Given the description of an element on the screen output the (x, y) to click on. 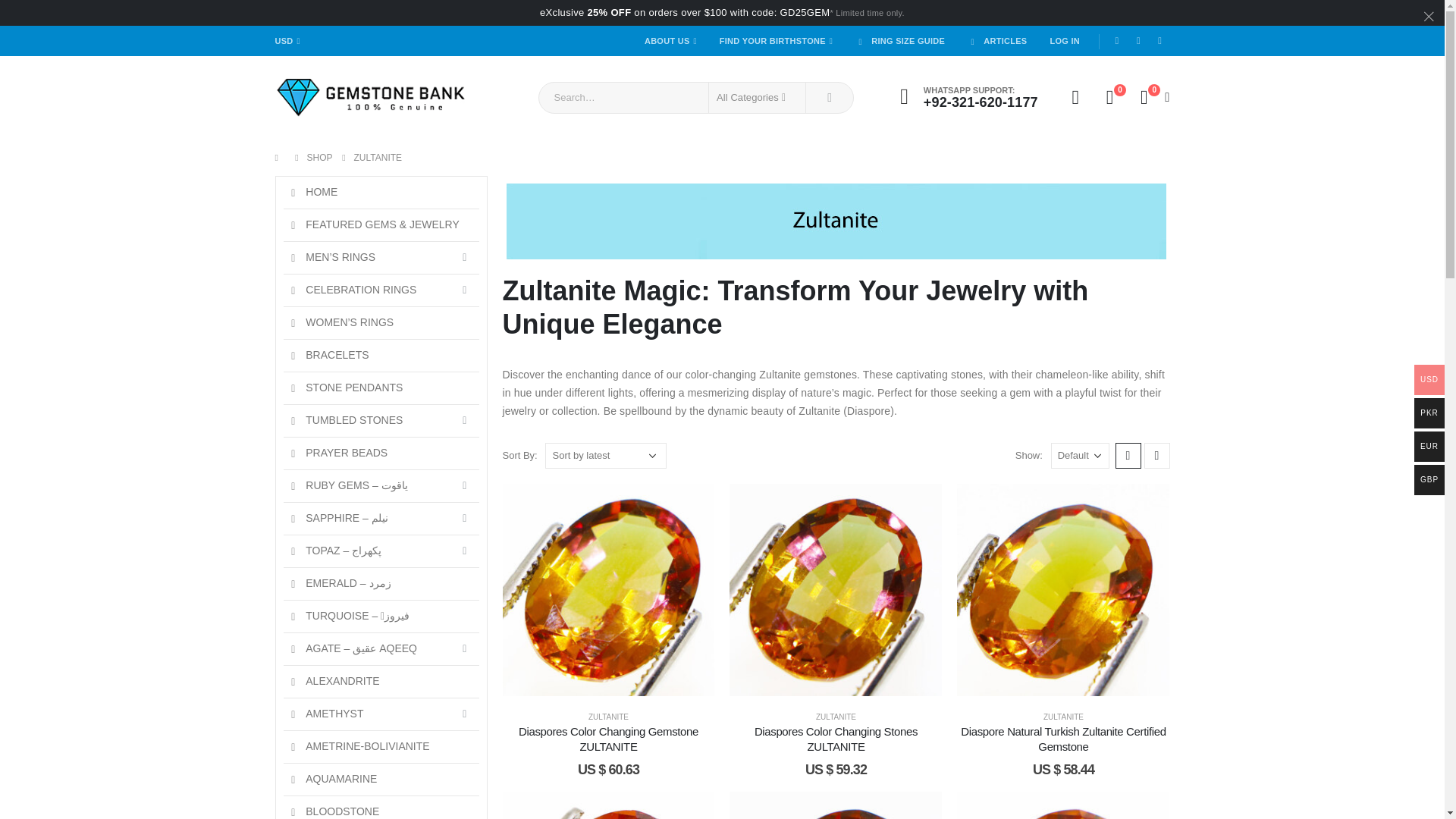
0 (1109, 97)
Search (829, 97)
Go to Home Page (280, 157)
ARTICLES (997, 40)
Twitter (1138, 41)
SHOP (318, 157)
Facebook (1116, 41)
ABOUT US (670, 40)
List View (1155, 455)
RING SIZE GUIDE (900, 40)
Pinterest (1160, 41)
Grid View (1127, 455)
USD (288, 40)
LOG IN (1064, 40)
My Account (1075, 97)
